Given the description of an element on the screen output the (x, y) to click on. 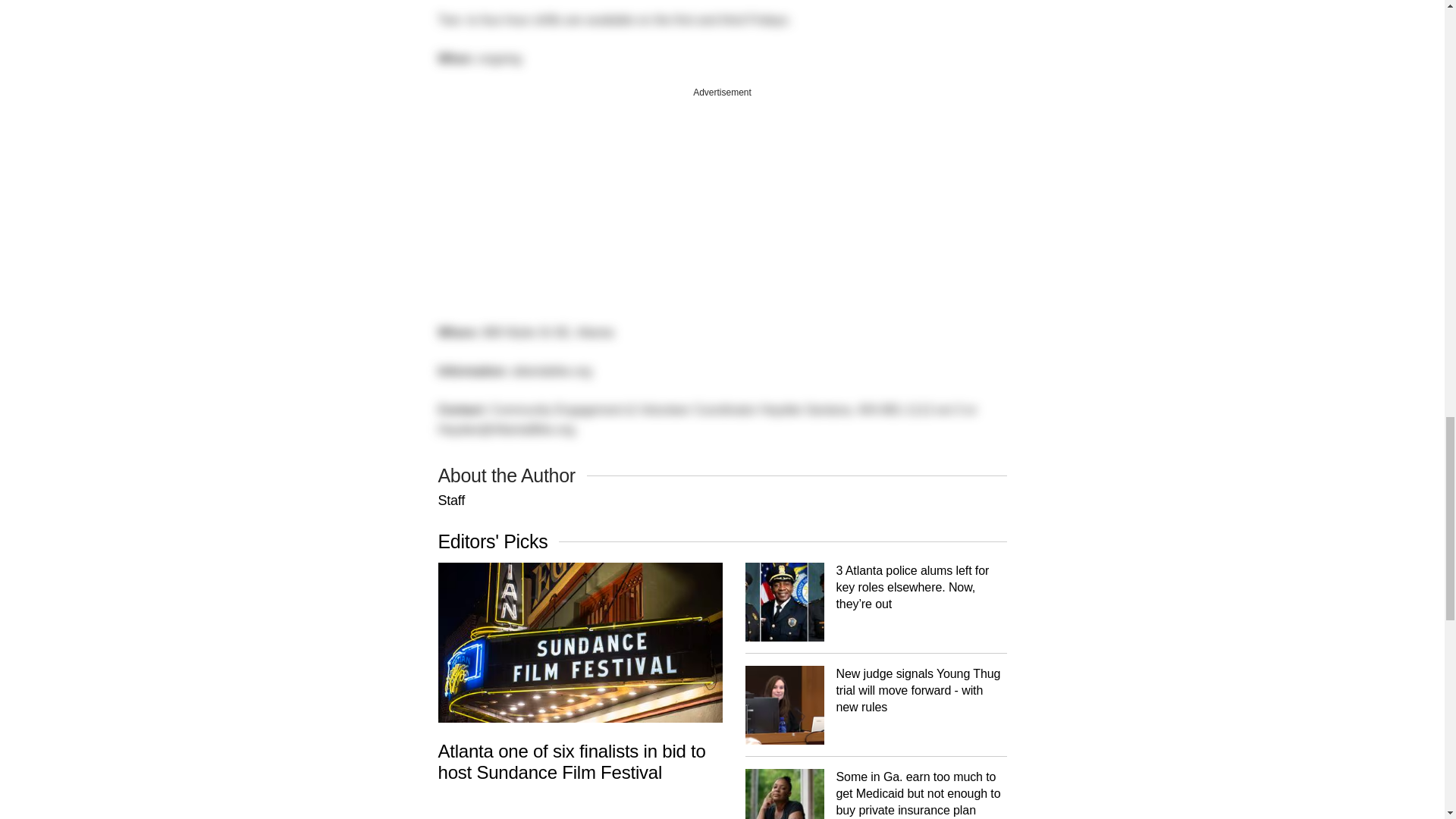
3rd party ad content (721, 197)
